Given the description of an element on the screen output the (x, y) to click on. 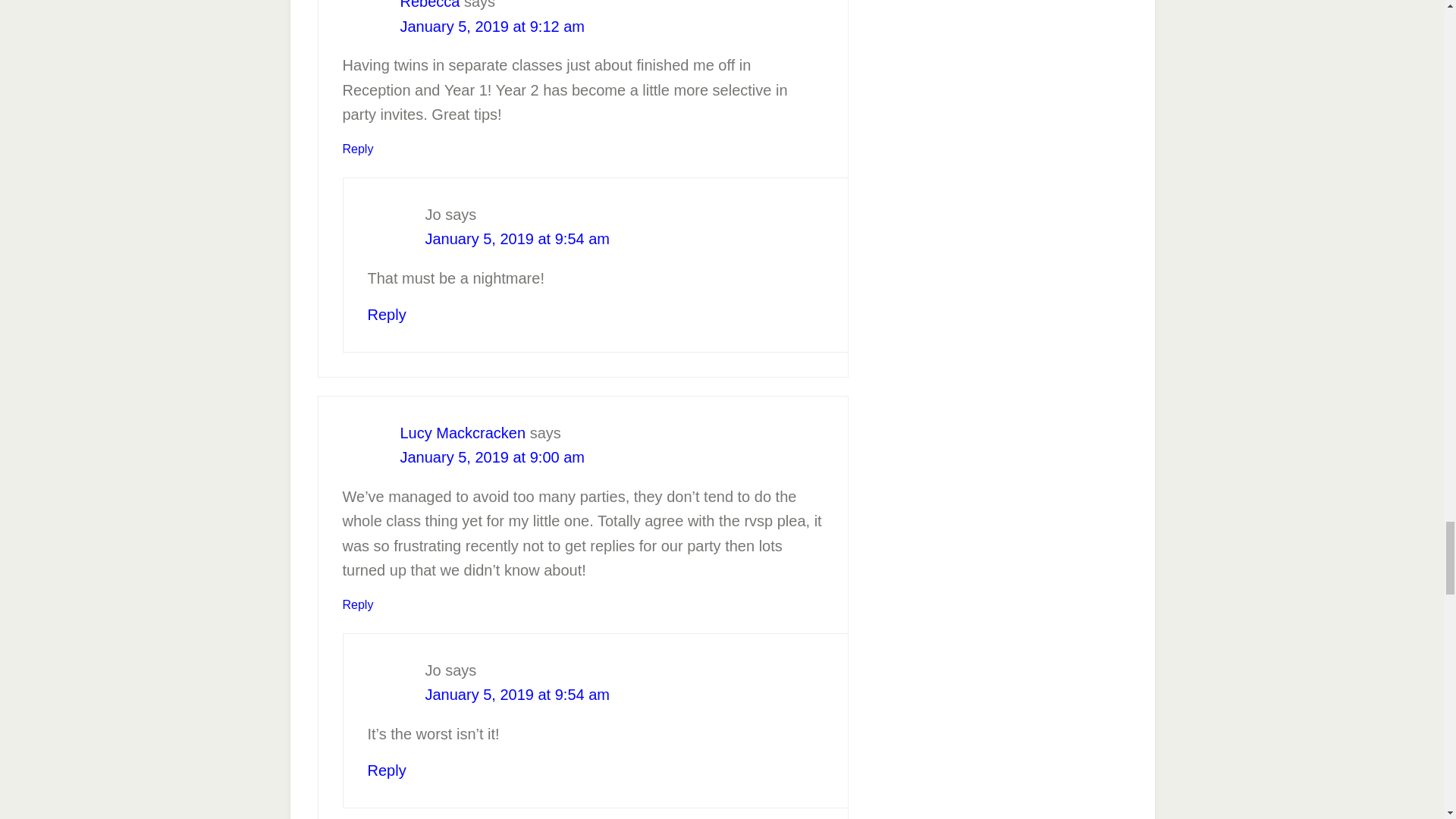
January 5, 2019 at 9:12 am (492, 26)
January 5, 2019 at 9:54 am (517, 238)
Reply (358, 148)
Reply (386, 314)
Rebecca (430, 4)
